Given the description of an element on the screen output the (x, y) to click on. 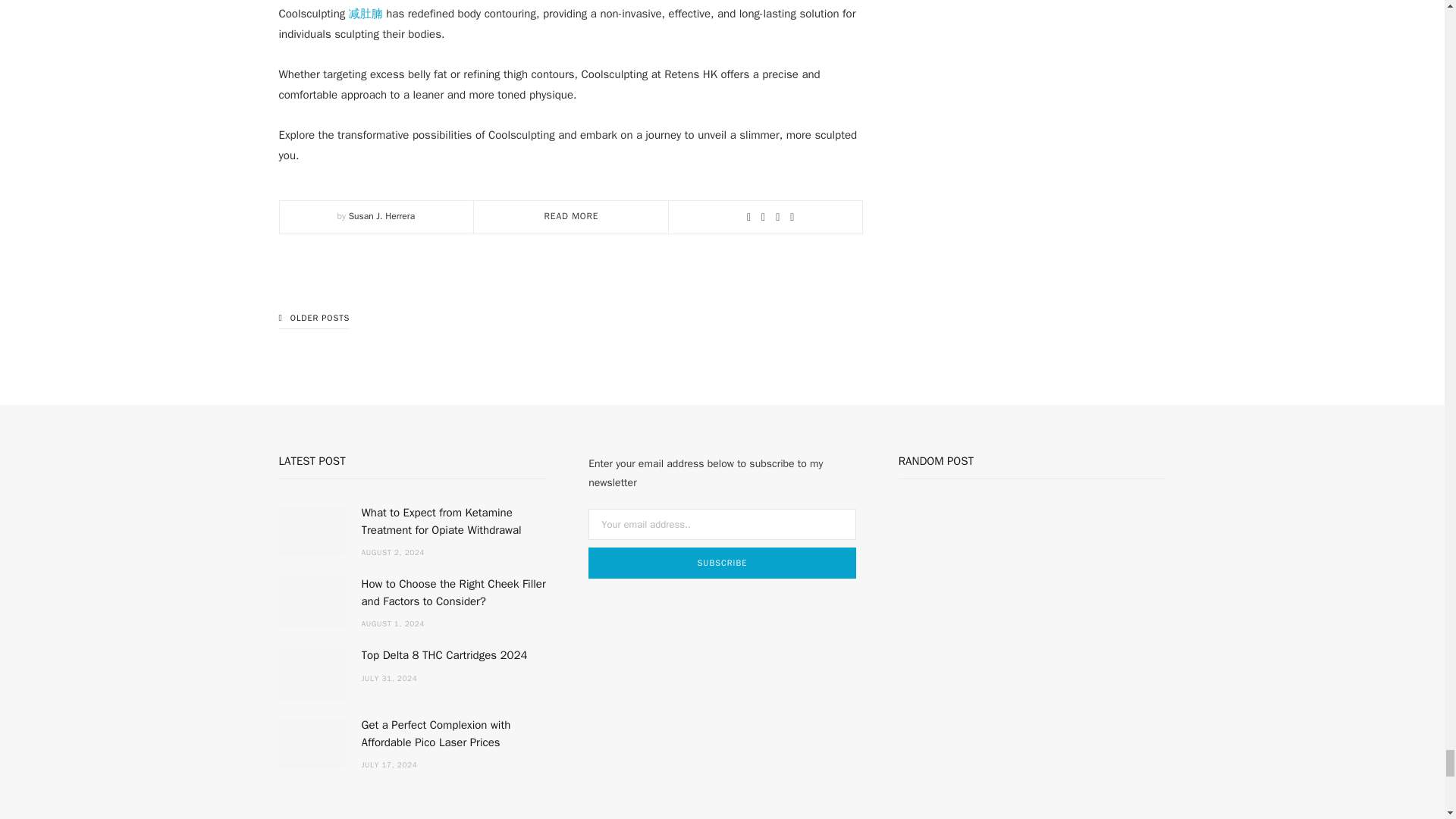
Subscribe (722, 562)
